Given the description of an element on the screen output the (x, y) to click on. 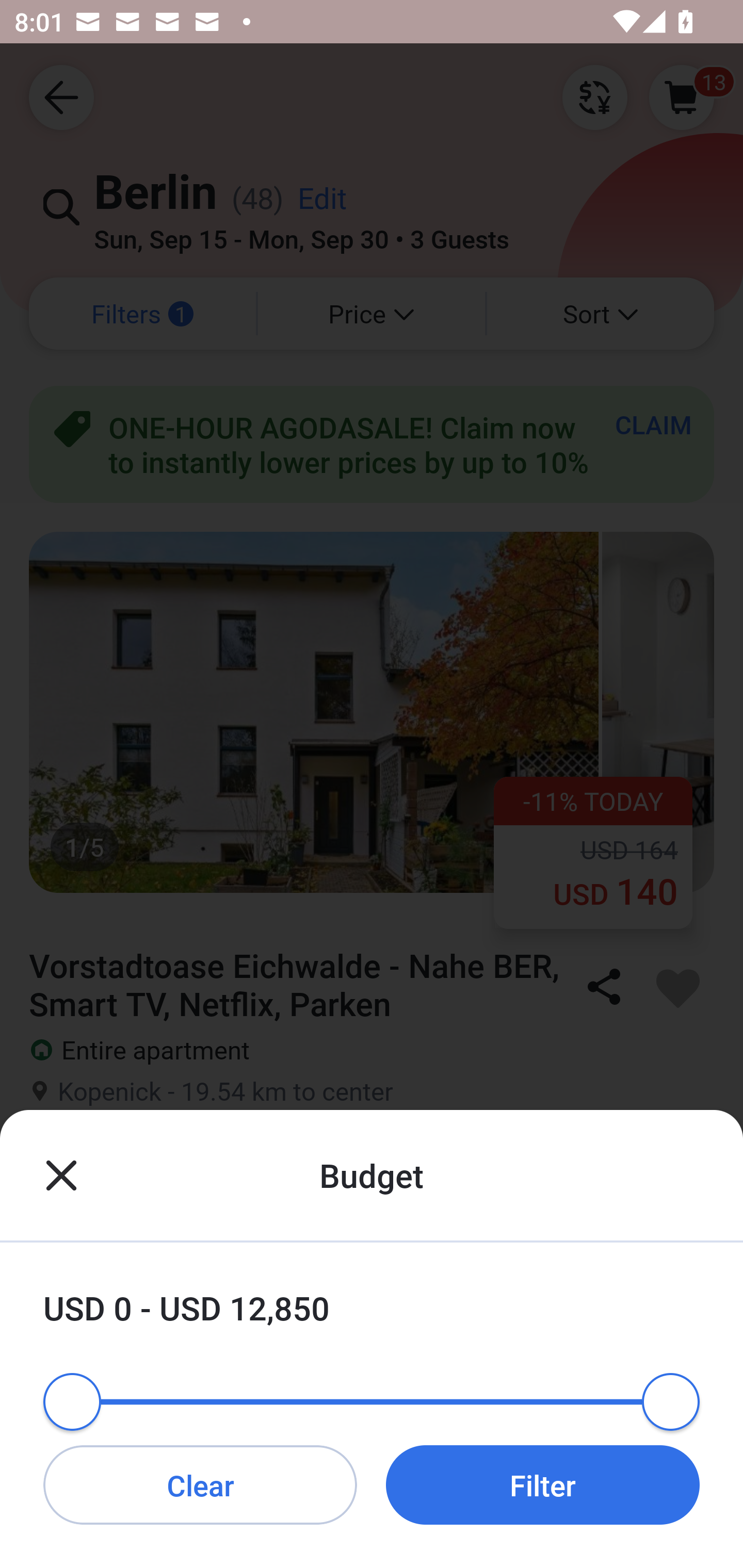
Free cancellation (371, 1181)
ONLY 1 LEFT (371, 1407)
Clear (200, 1484)
Filter (542, 1484)
